Given the description of an element on the screen output the (x, y) to click on. 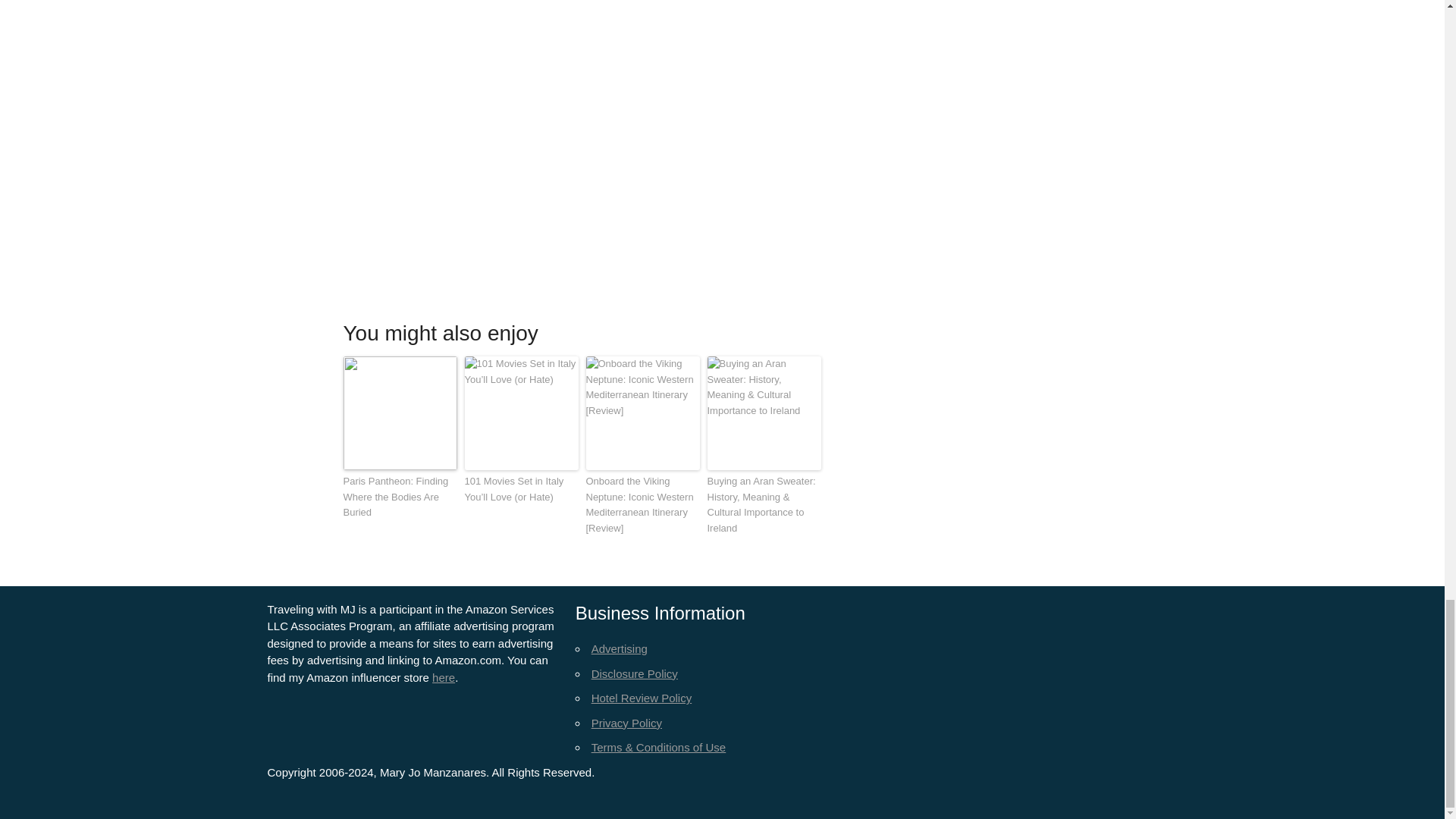
Privacy Policy (626, 722)
Advertising (619, 648)
here (443, 676)
Paris Pantheon: Finding Where the Bodies Are Buried (399, 497)
Disclosure Policy (634, 673)
The Traveling with MJ Privacy Policy (626, 722)
Hotel Review Policy (642, 697)
